Given the description of an element on the screen output the (x, y) to click on. 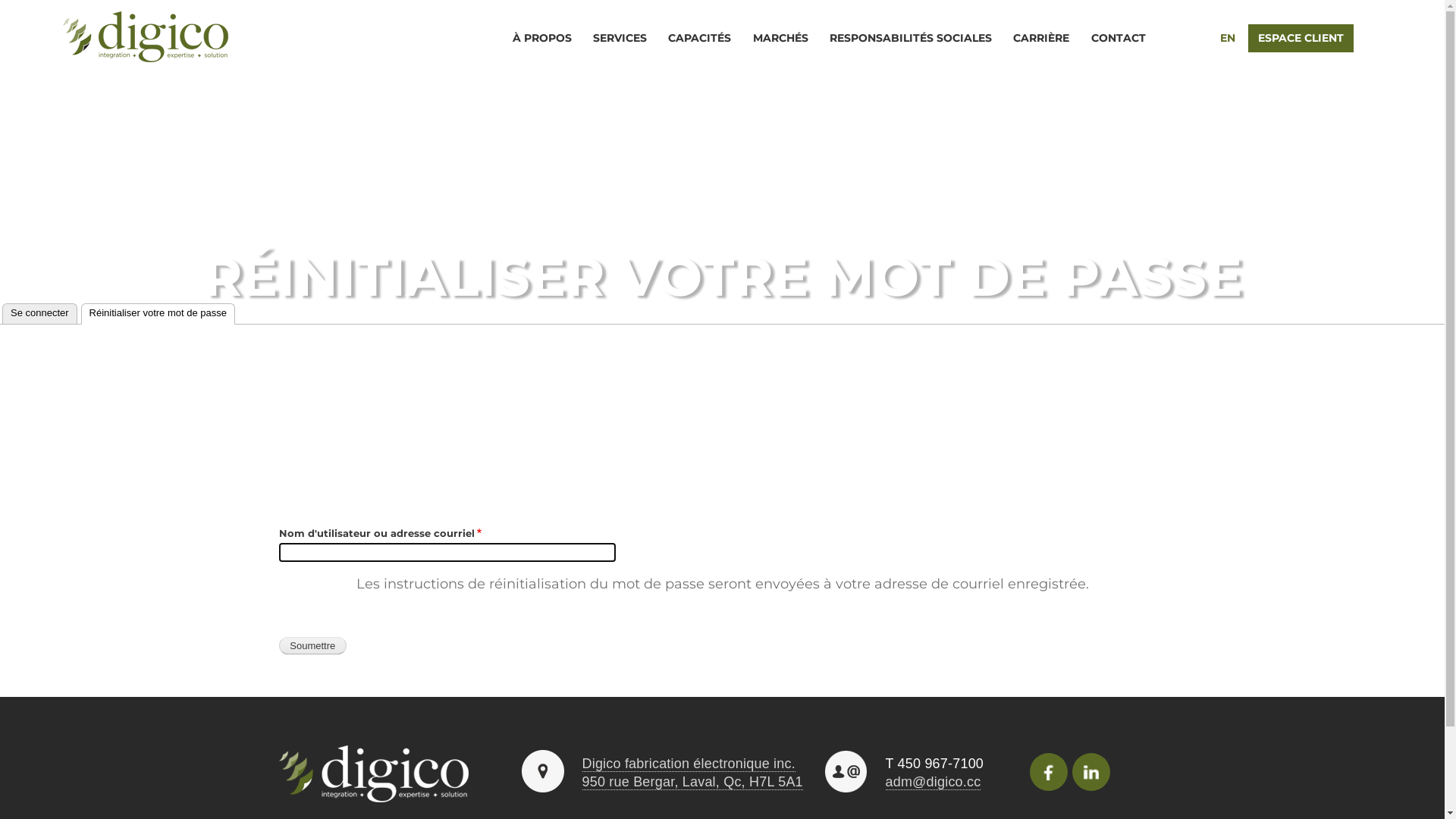
Facebook Element type: text (1048, 771)
ENGLISH Element type: text (1195, 38)
Linkedin Element type: text (1091, 771)
Aller au contenu principal Element type: text (722, 1)
Accueil Element type: hover (144, 38)
adm@digico.cc Element type: text (933, 782)
Se connecter Element type: text (39, 313)
SERVICES Element type: text (619, 37)
CONTACT Element type: text (1118, 37)
ESPACE CLIENT Element type: text (1300, 38)
Soumettre Element type: text (313, 646)
